Given the description of an element on the screen output the (x, y) to click on. 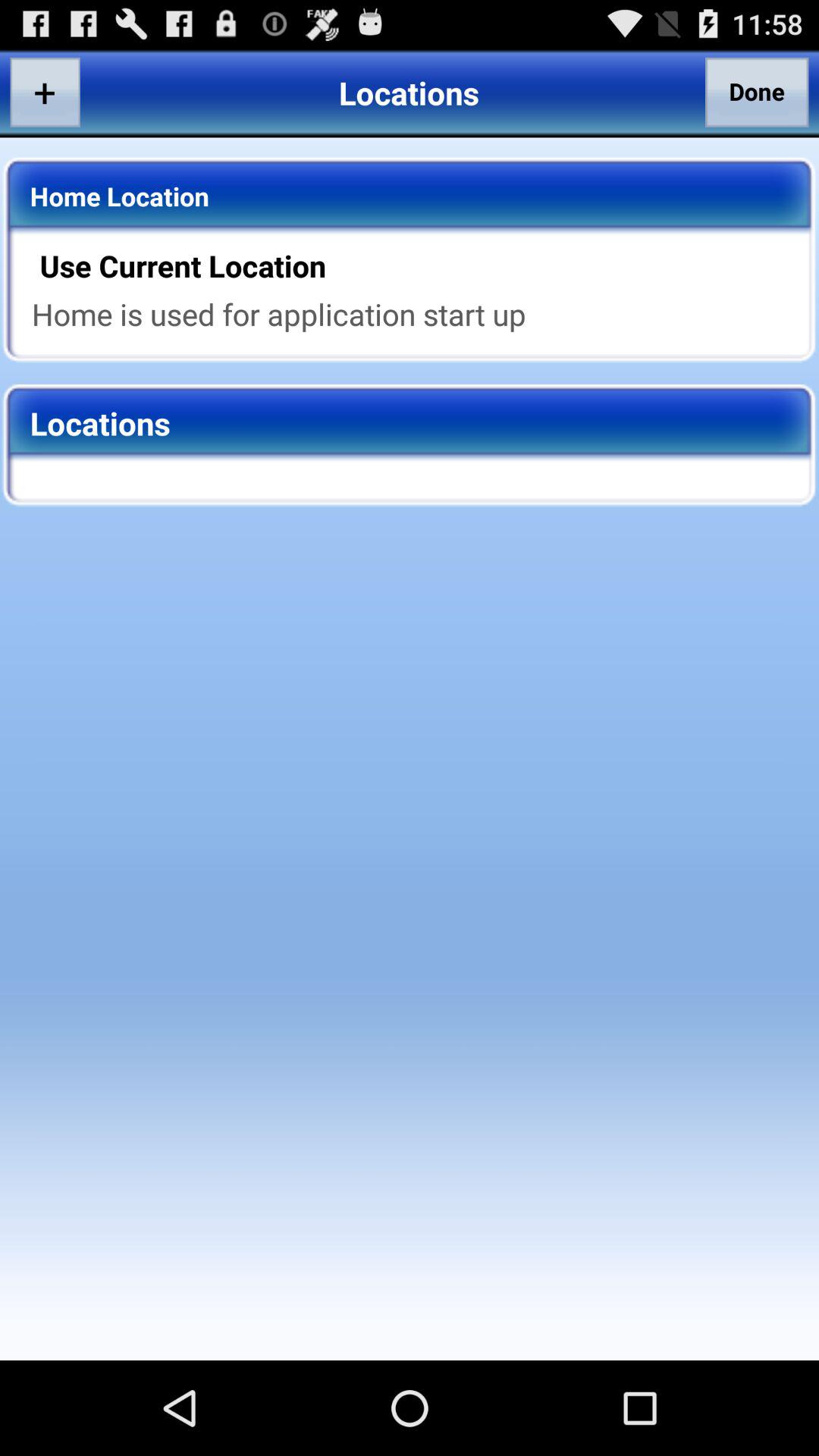
launch the item above the home is used (419, 265)
